Given the description of an element on the screen output the (x, y) to click on. 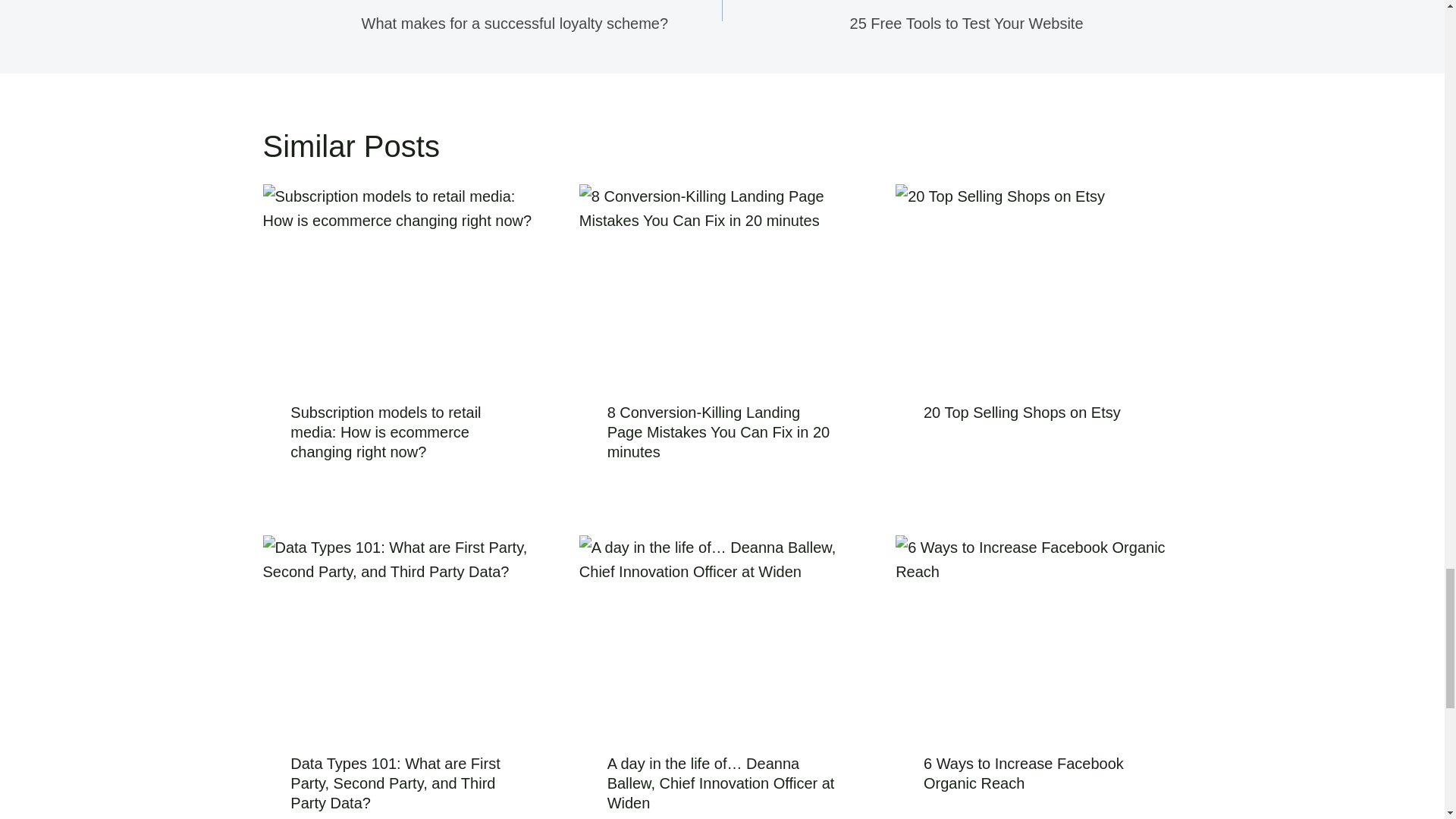
20 Top Selling Shops on Etsy (902, 17)
6 Ways to Increase Facebook Organic Reach (1022, 412)
